Given the description of an element on the screen output the (x, y) to click on. 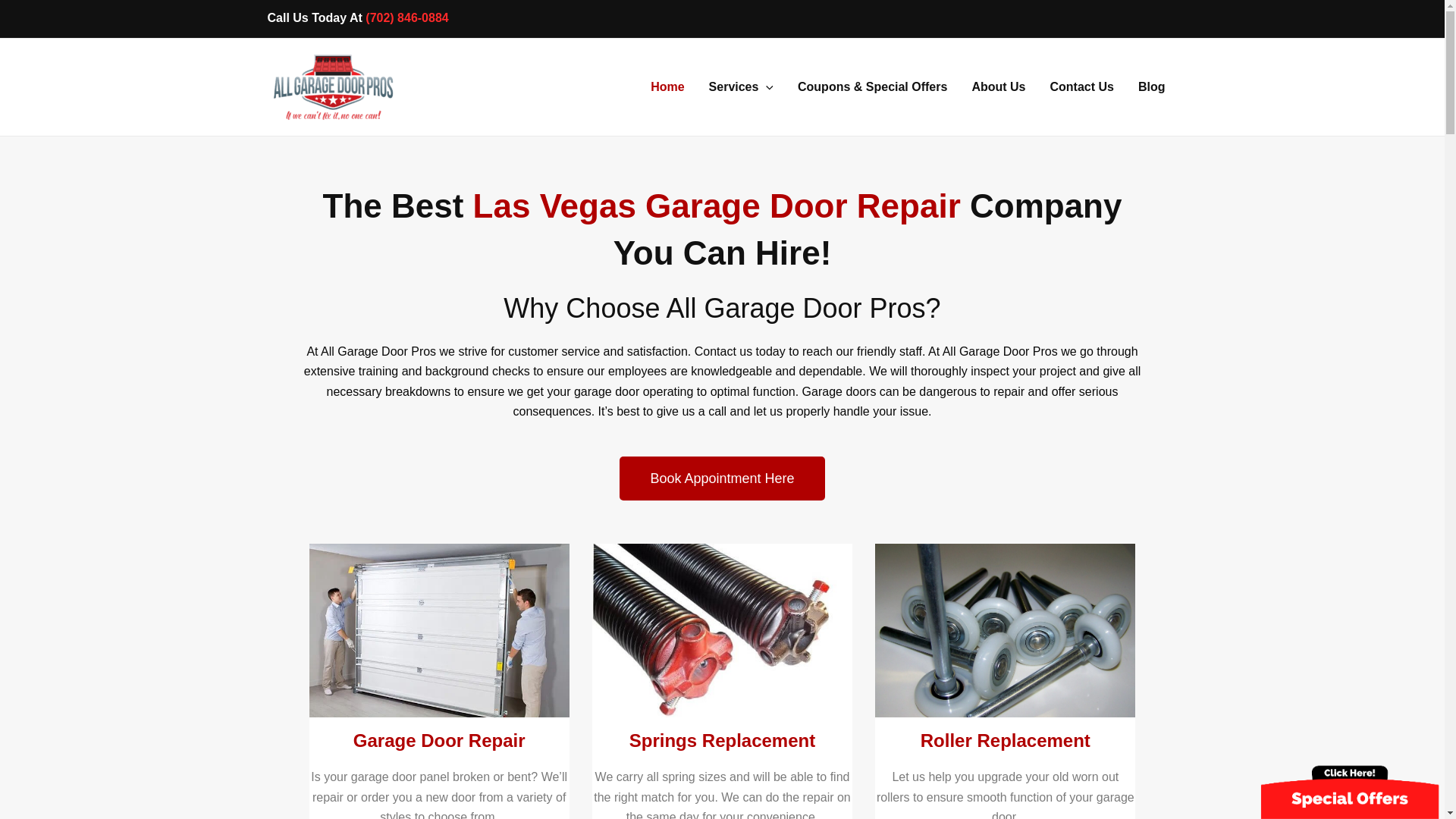
Home (667, 86)
Services (741, 86)
About Us (997, 86)
Contact Us (1080, 86)
Book Appointment Here (722, 478)
